Given the description of an element on the screen output the (x, y) to click on. 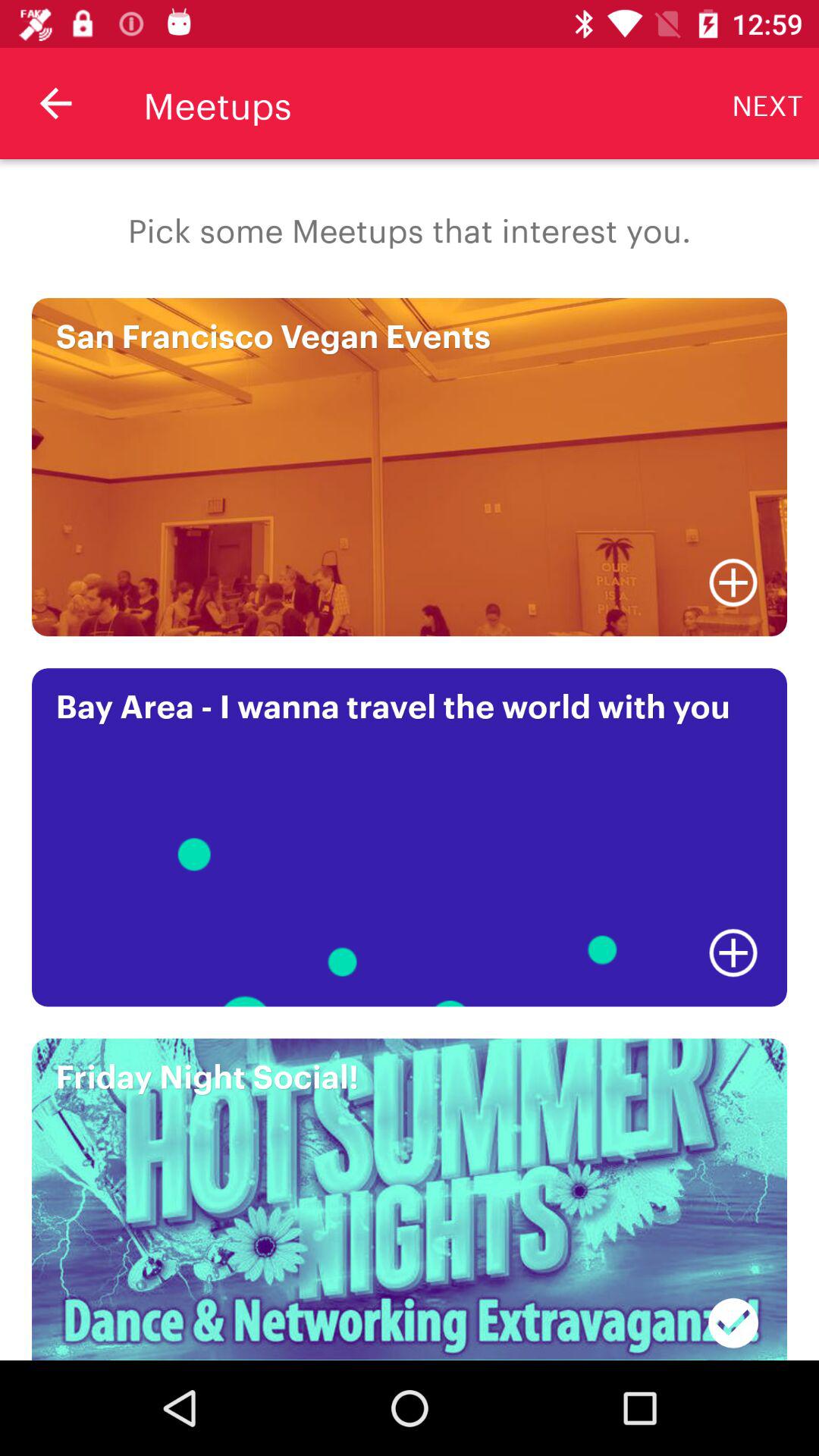
tap next (767, 103)
